Given the description of an element on the screen output the (x, y) to click on. 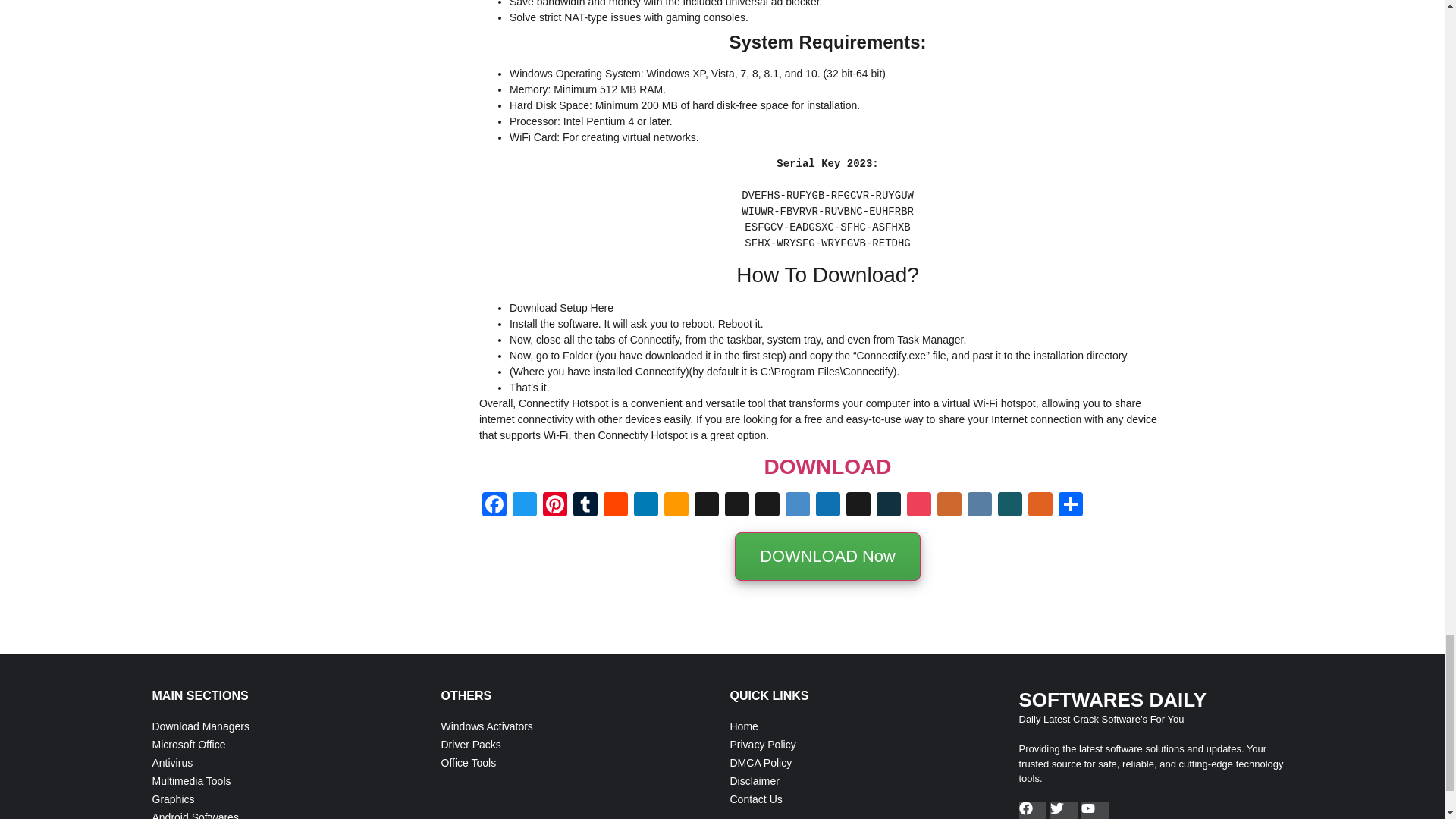
Twitter (524, 506)
Pinterest (555, 506)
Facebook (494, 506)
Tumblr (584, 506)
